Given the description of an element on the screen output the (x, y) to click on. 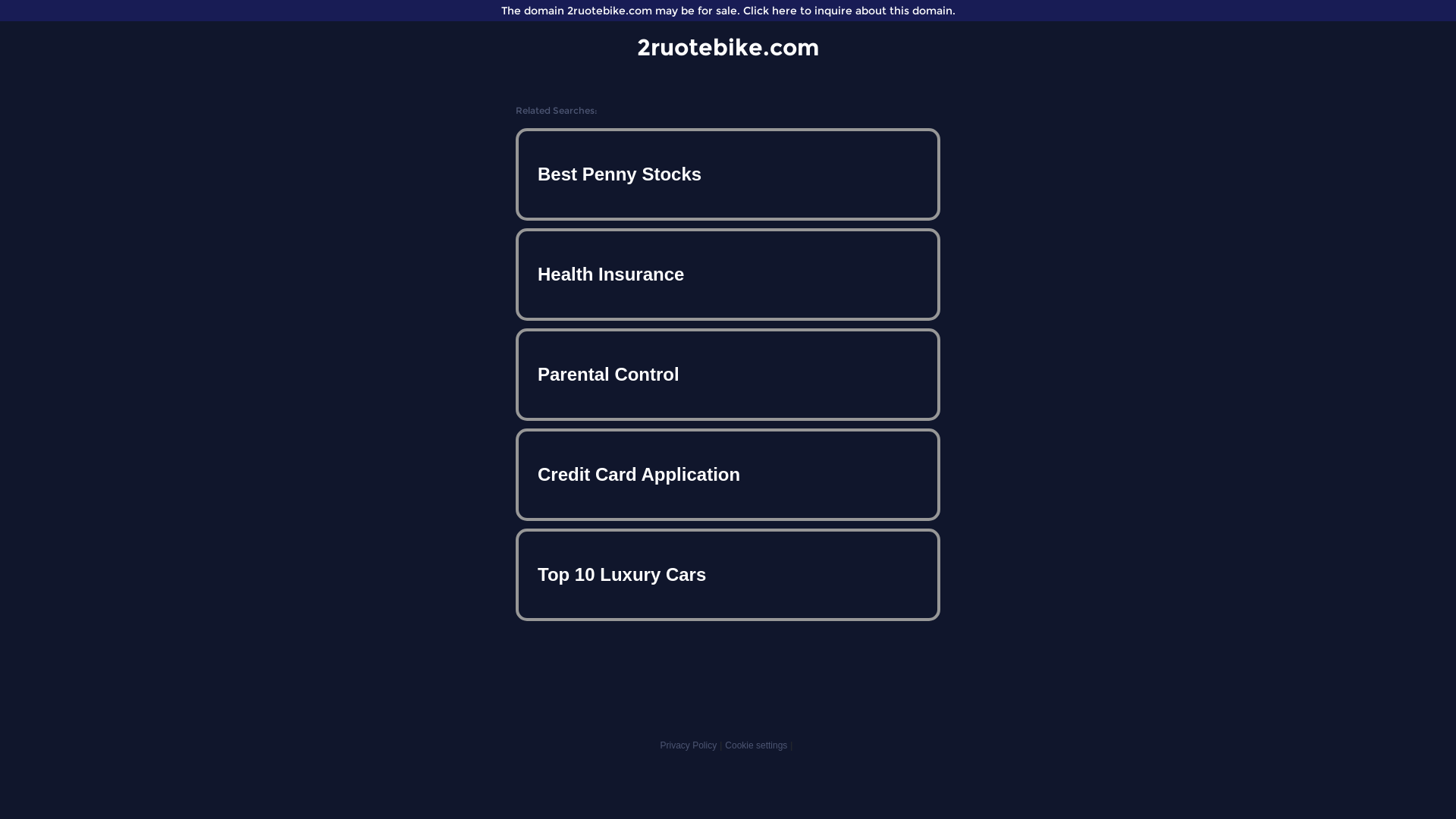
Privacy Policy Element type: text (687, 745)
Parental Control Element type: text (727, 374)
Cookie settings Element type: text (755, 745)
Best Penny Stocks Element type: text (727, 174)
Top 10 Luxury Cars Element type: text (727, 574)
2ruotebike.com Element type: text (728, 47)
Health Insurance Element type: text (727, 274)
Credit Card Application Element type: text (727, 474)
